Given the description of an element on the screen output the (x, y) to click on. 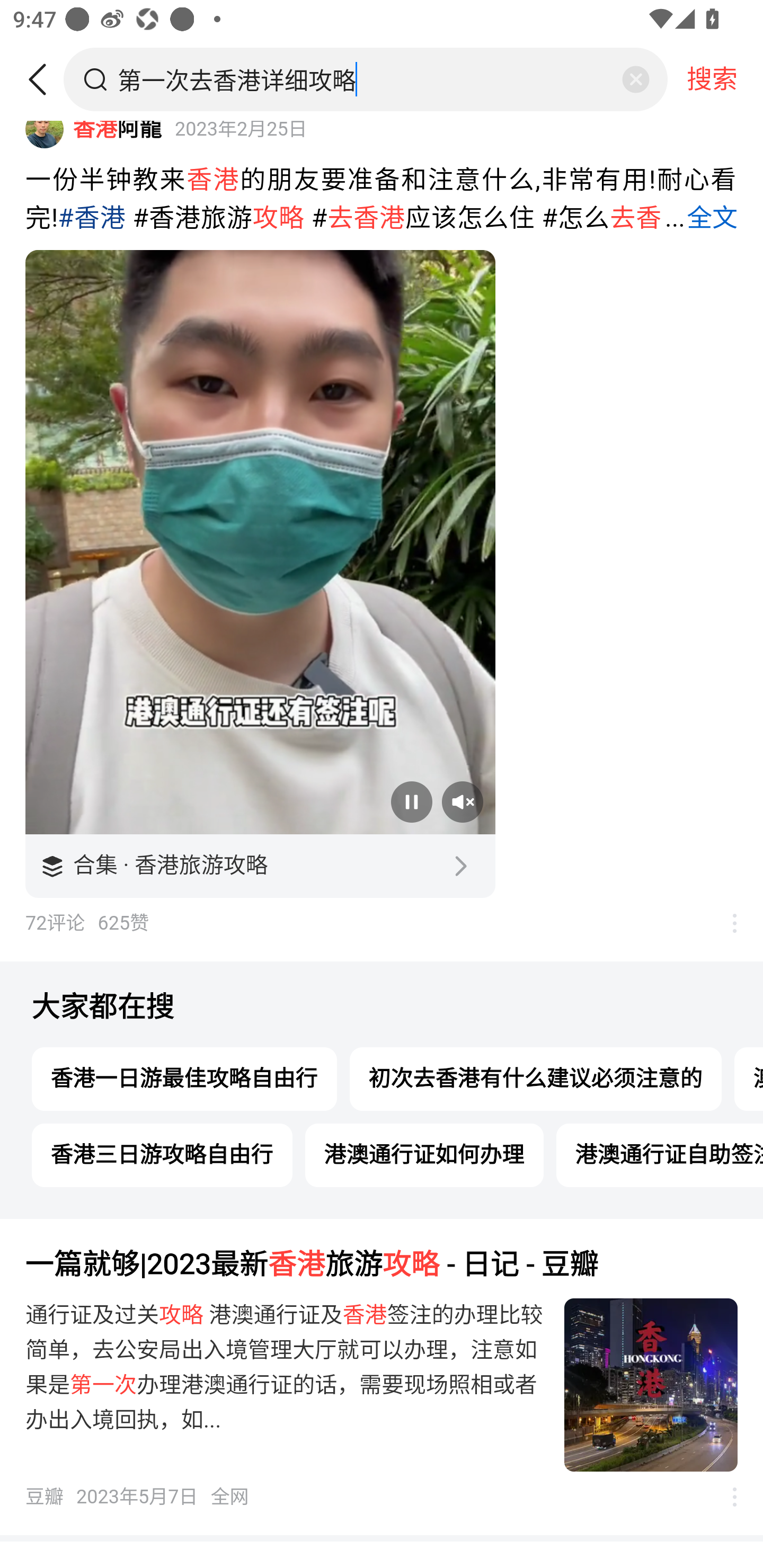
搜索框，第一次去香港详细攻略 (366, 79)
搜索 (711, 79)
返回 (44, 79)
清除 (635, 79)
取消静音 (461, 801)
